Given the description of an element on the screen output the (x, y) to click on. 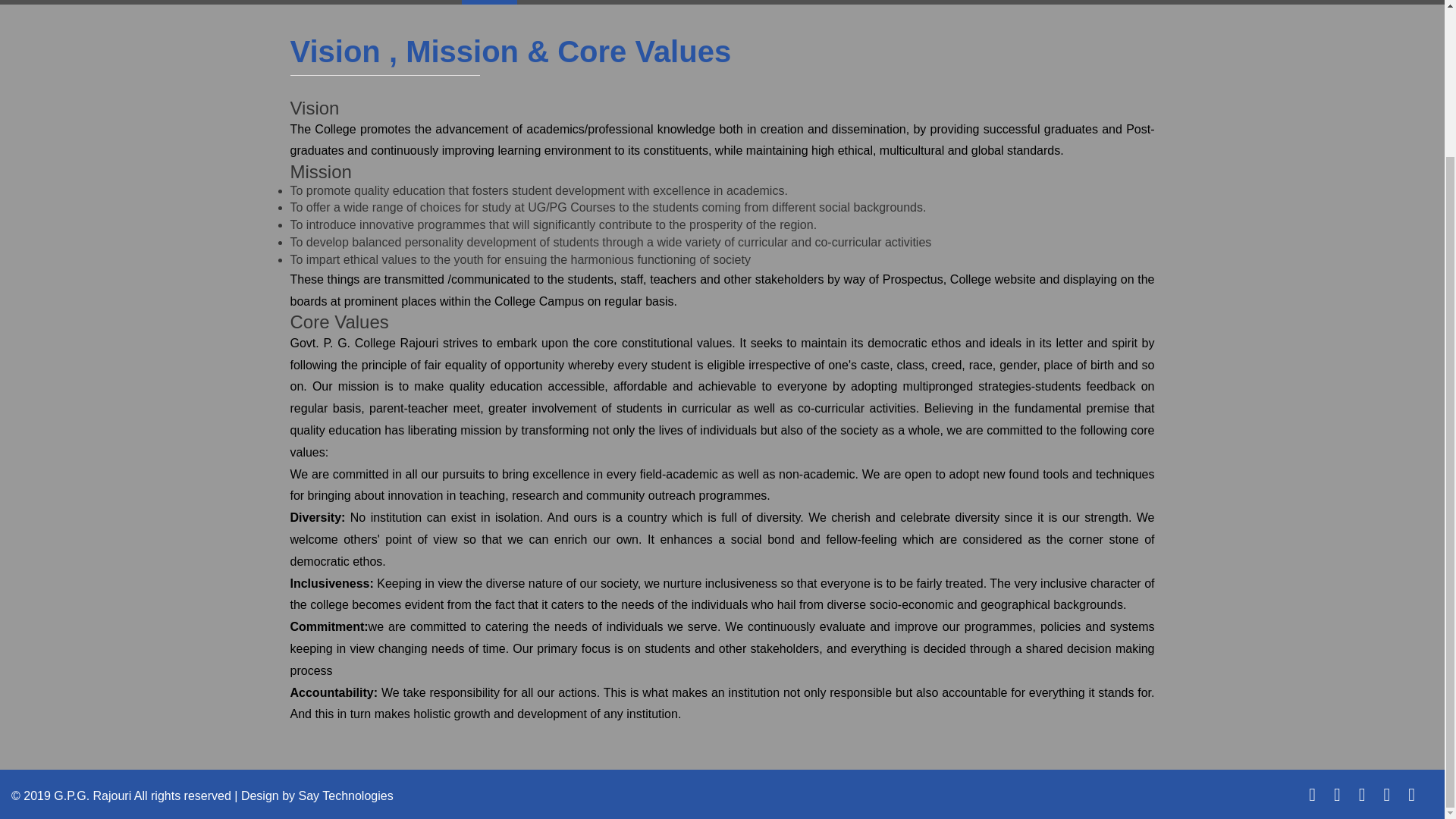
PUBLICATION (1031, 2)
EXAMINATION (923, 2)
CAMPUS (627, 2)
HOME (488, 2)
ACADEMICS (716, 2)
ABOUT (554, 2)
ADMISSIONS (817, 2)
